Given the description of an element on the screen output the (x, y) to click on. 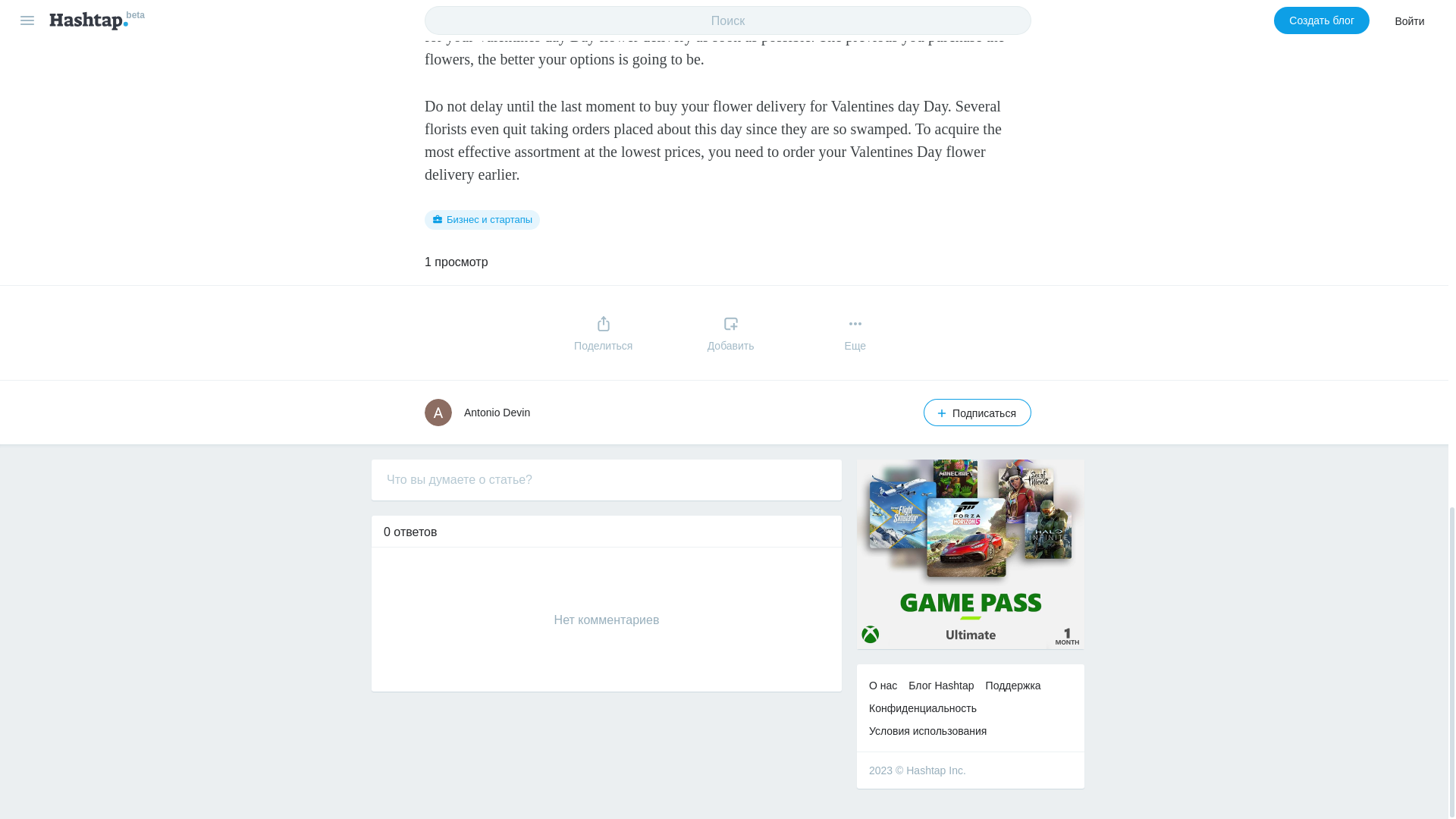
Antonio Devin (496, 412)
A (438, 411)
